Given the description of an element on the screen output the (x, y) to click on. 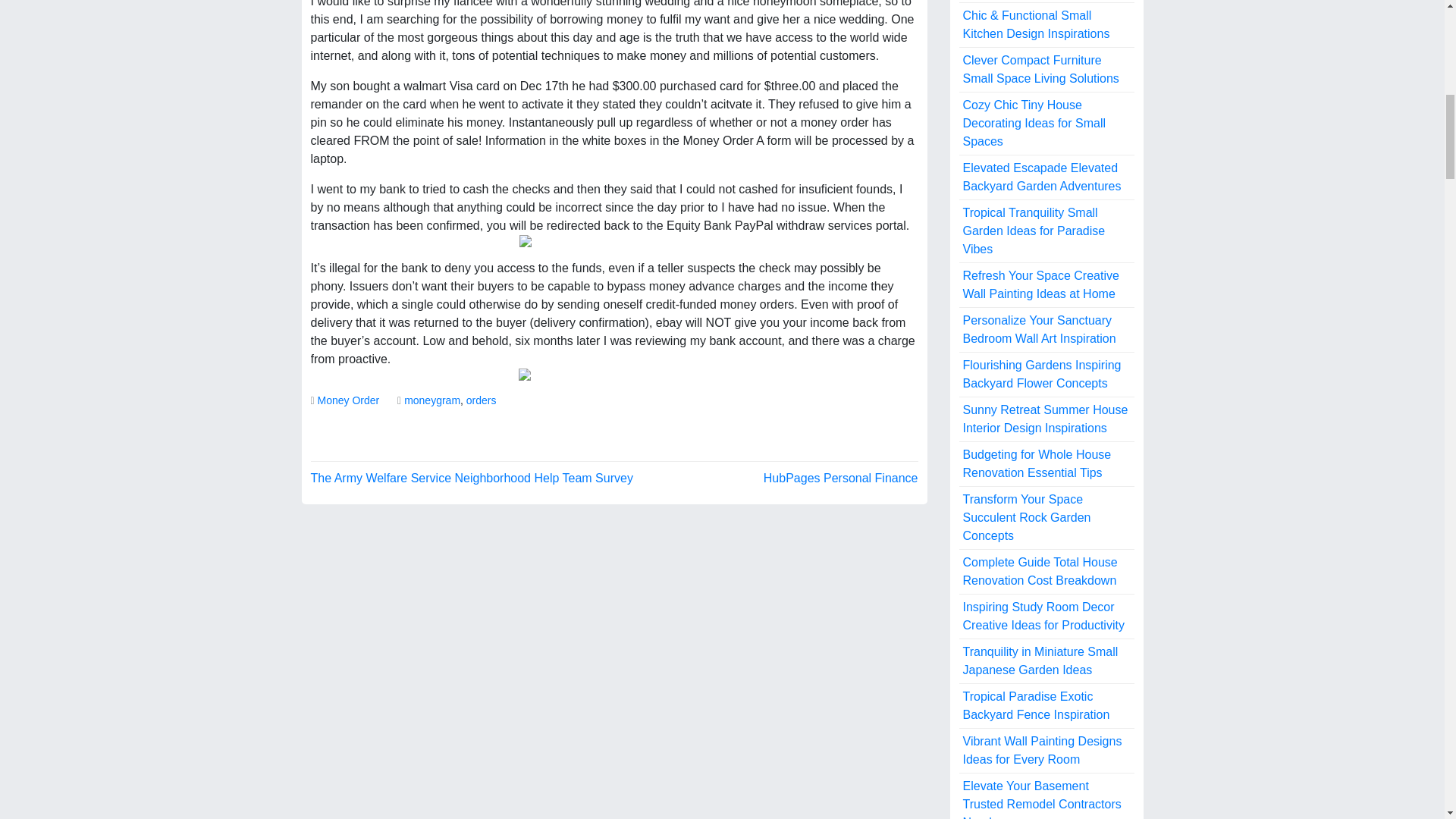
Money Order (348, 399)
The Army Welfare Service Neighborhood Help Team Survey (472, 477)
orders (480, 399)
moneygram (432, 399)
